Given the description of an element on the screen output the (x, y) to click on. 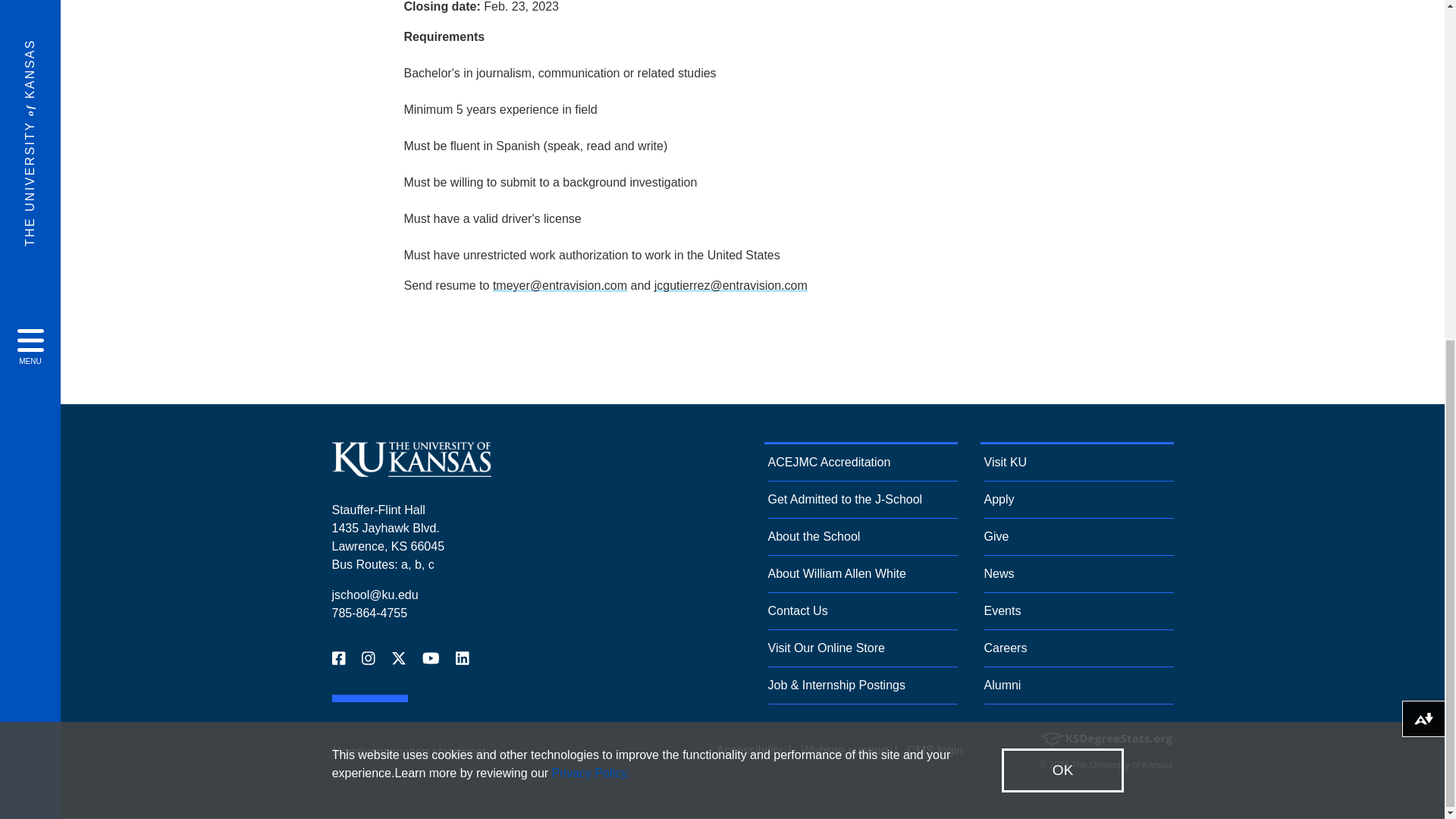
Privacy Policy. (590, 195)
OK (1062, 192)
The University of Kansas (411, 470)
